Given the description of an element on the screen output the (x, y) to click on. 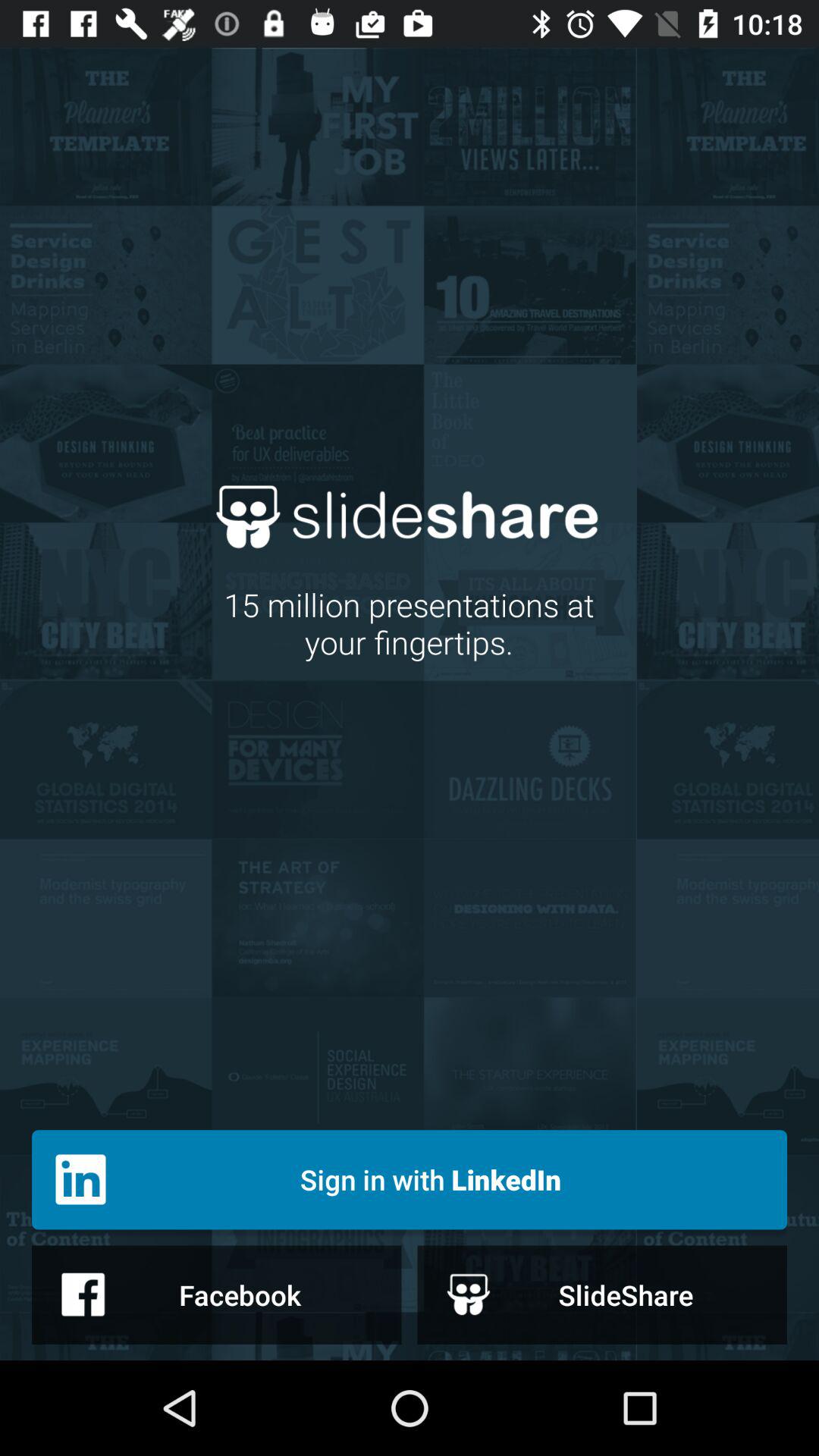
launch the icon above facebook icon (409, 1179)
